Given the description of an element on the screen output the (x, y) to click on. 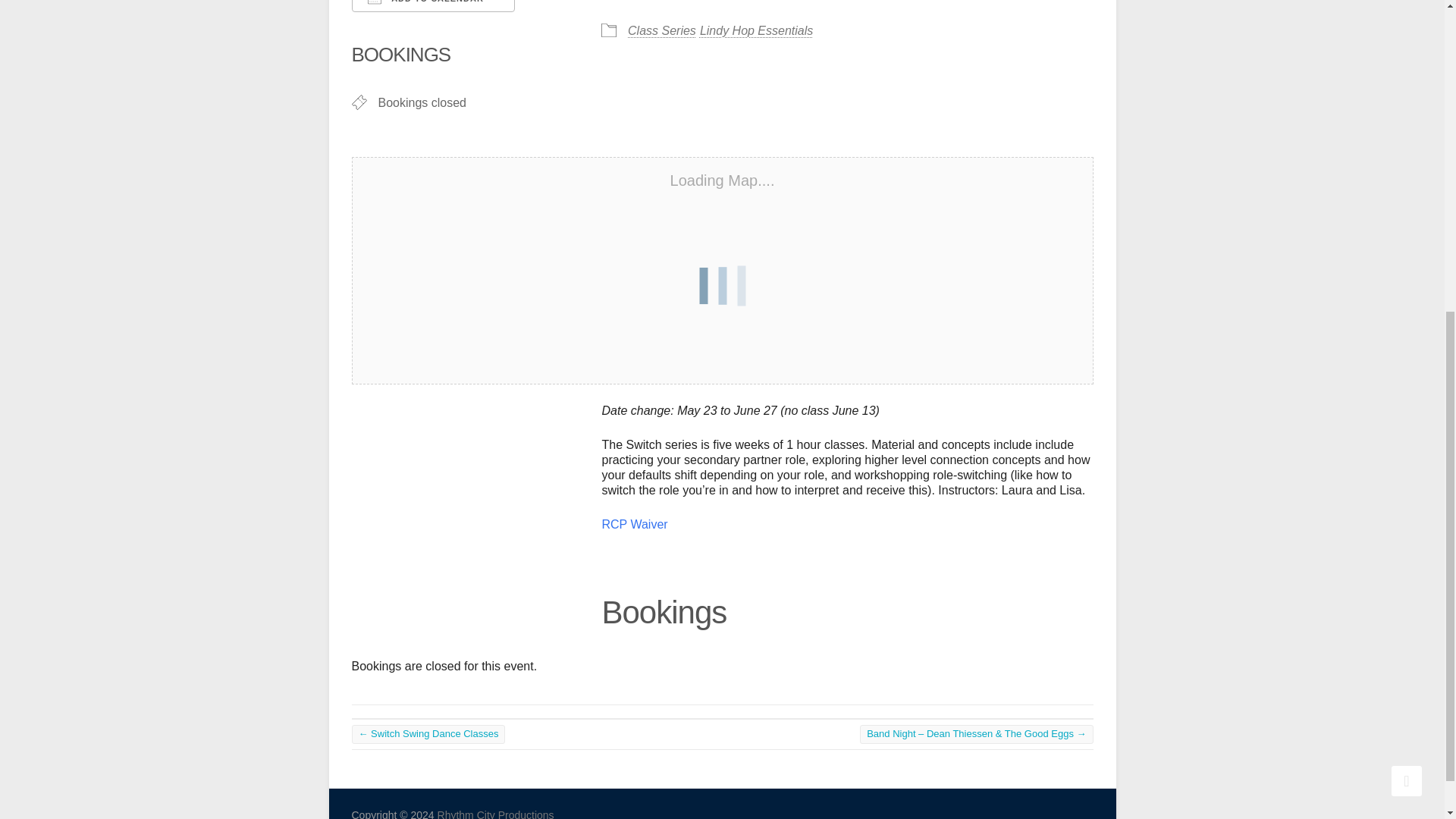
Class Series (661, 30)
Download ICS (368, 24)
ADD TO CALENDAR (433, 6)
Lindy Hop Essentials (756, 30)
